Given the description of an element on the screen output the (x, y) to click on. 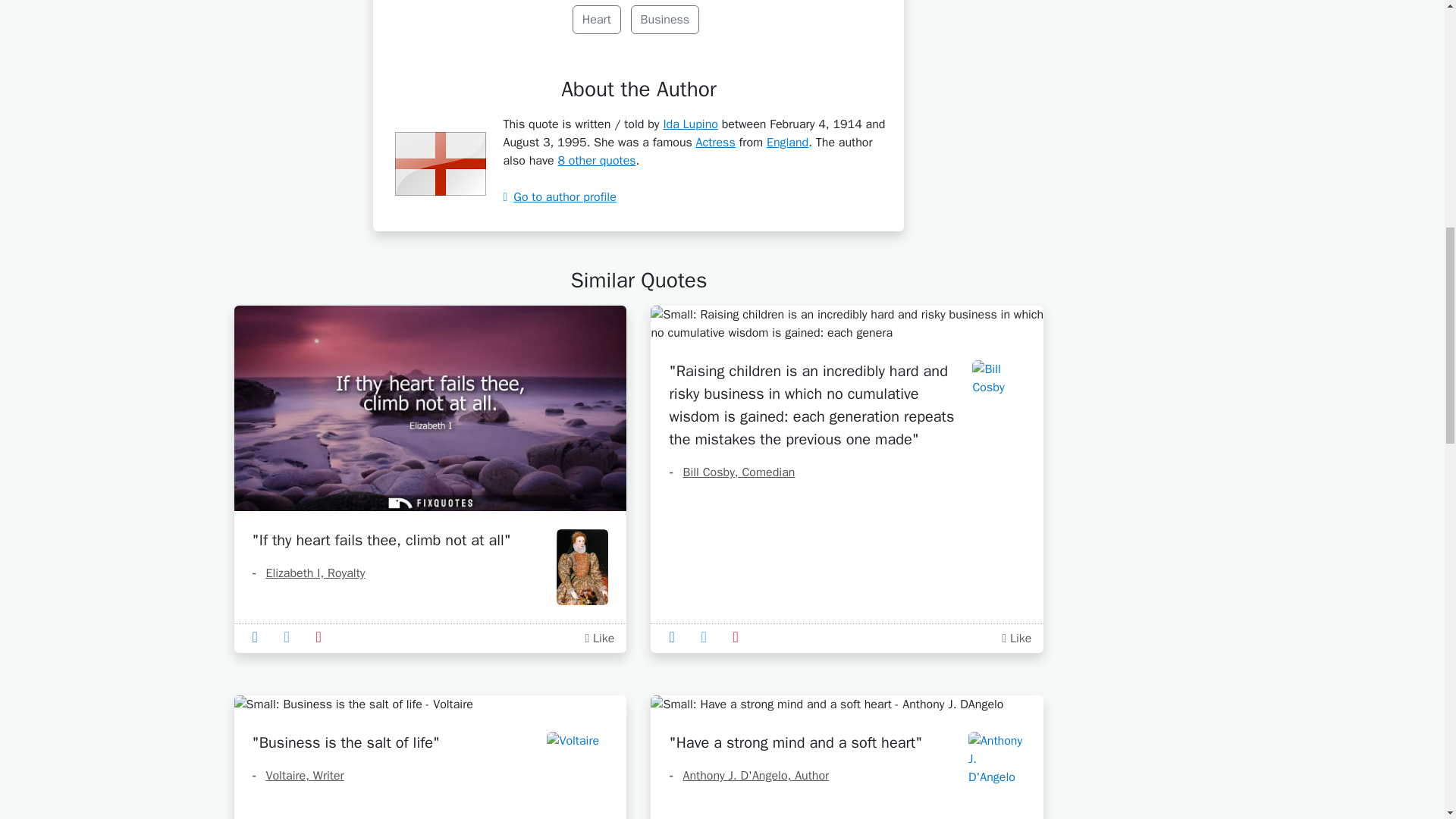
8 other quotes (595, 160)
Share on Twitter (290, 636)
Vote on the best quotes (599, 638)
Go to author profile (558, 196)
Ida Lupino (689, 124)
Vote on the best quotes (1017, 638)
Bill Cosby, Comedian (731, 472)
Voltaire, Writer (297, 775)
Share on Facebook (258, 636)
Share on Pinterest (740, 636)
Anthony J. D'Angelo, Author (748, 775)
England (787, 142)
Share on Facebook (676, 636)
Actress (715, 142)
Share on Pinterest (322, 636)
